Given the description of an element on the screen output the (x, y) to click on. 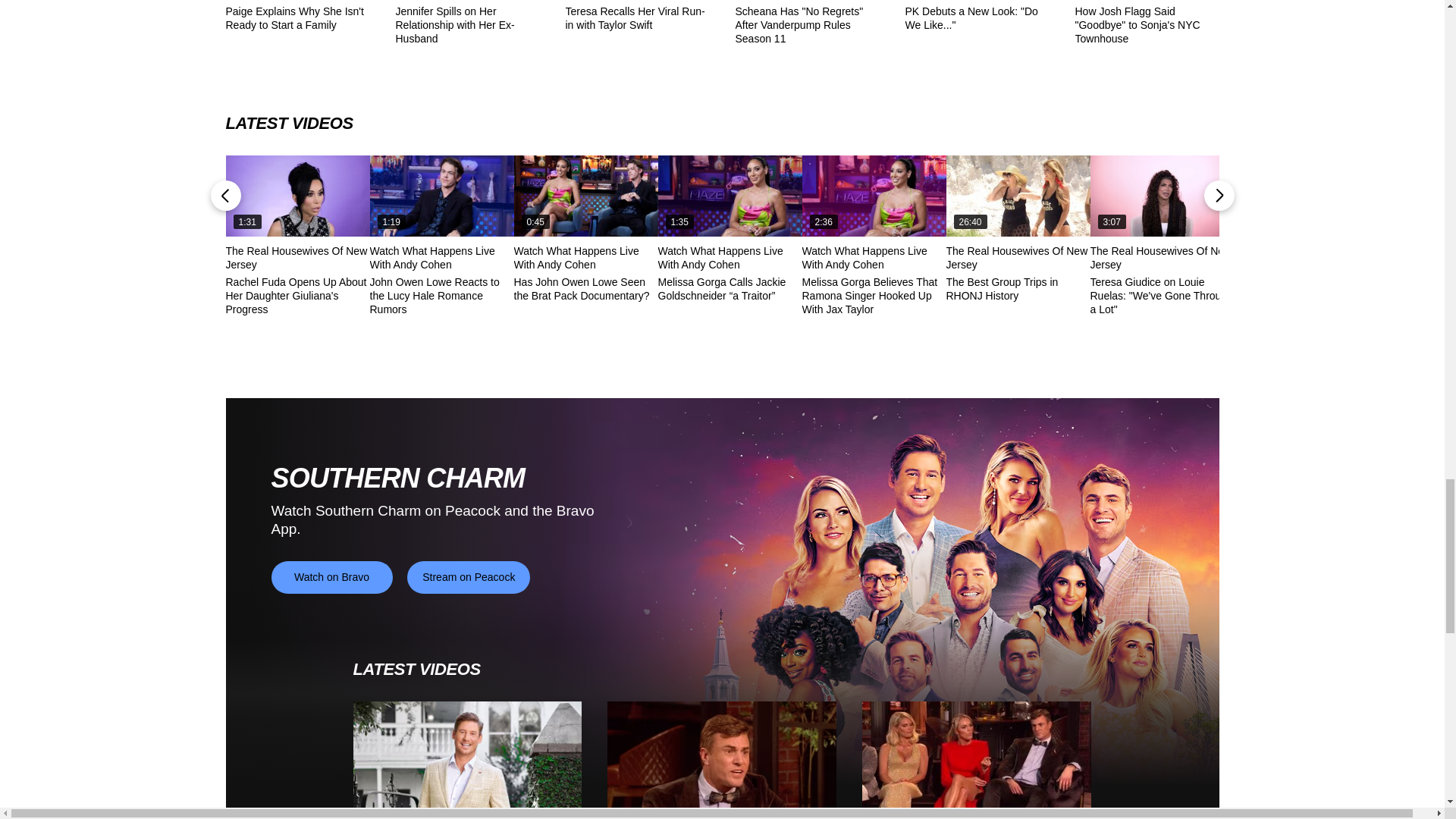
Rachel Fuda Opens Up About Her Daughter Giuliana's Progress (297, 195)
John Owen Lowe Reacts to the Lucy Hale Romance Rumors (441, 195)
Take a Look at Austen Kroll's Relationship History Timeline (467, 760)
Shep Rose Reveals He's Still Upset with Austen Kroll (721, 760)
Teresa Giudice on Louie Ruelas: "We've Gone Through a Lot" (1162, 195)
Has John Owen Lowe Seen the Brat Pack Documentary? (585, 195)
The Best Group Trips in RHONJ History (1018, 195)
